Given the description of an element on the screen output the (x, y) to click on. 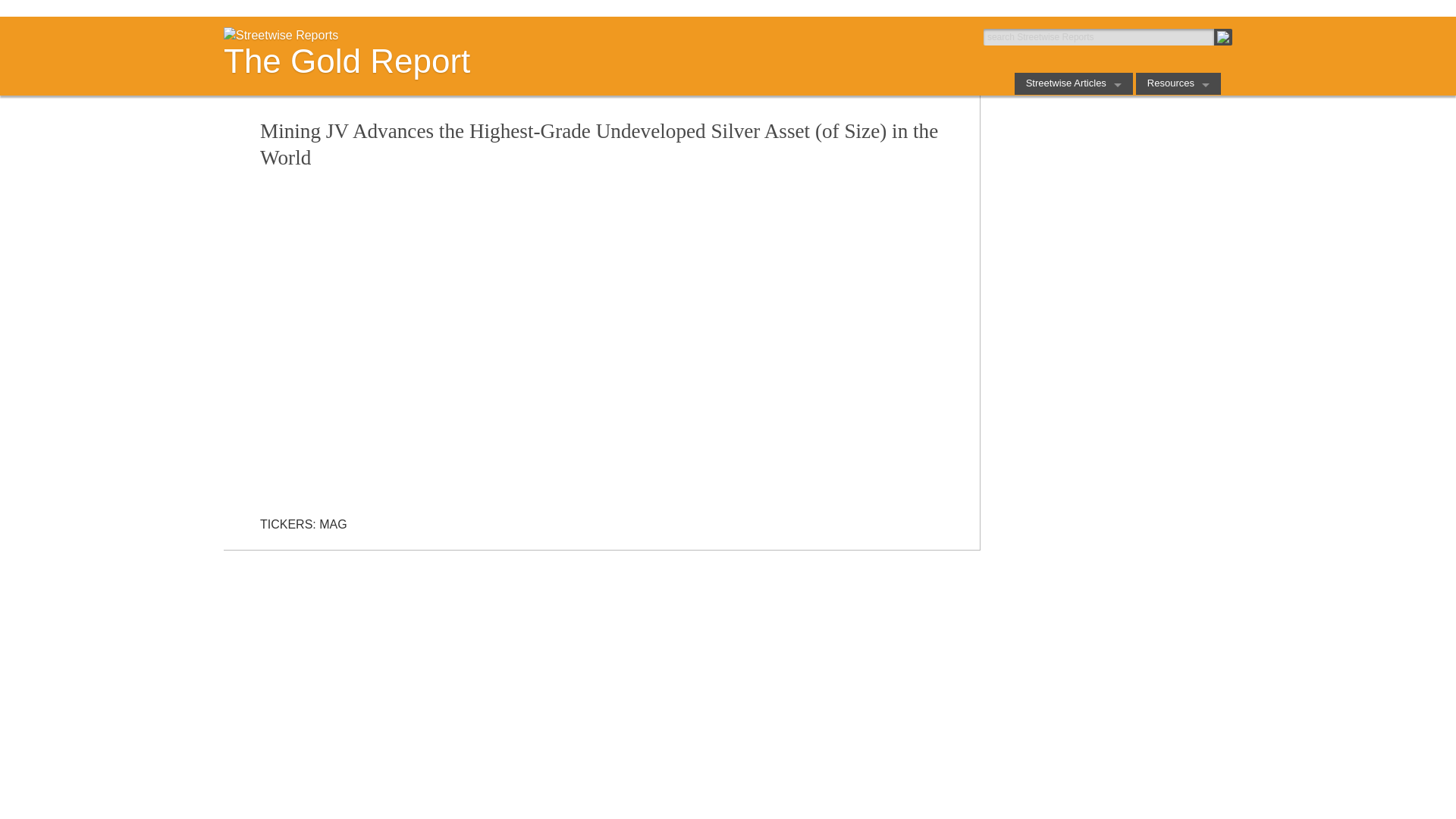
The Gold Report (470, 60)
Resources (1178, 83)
Search (1222, 36)
Streetwise Articles (1073, 83)
